Given the description of an element on the screen output the (x, y) to click on. 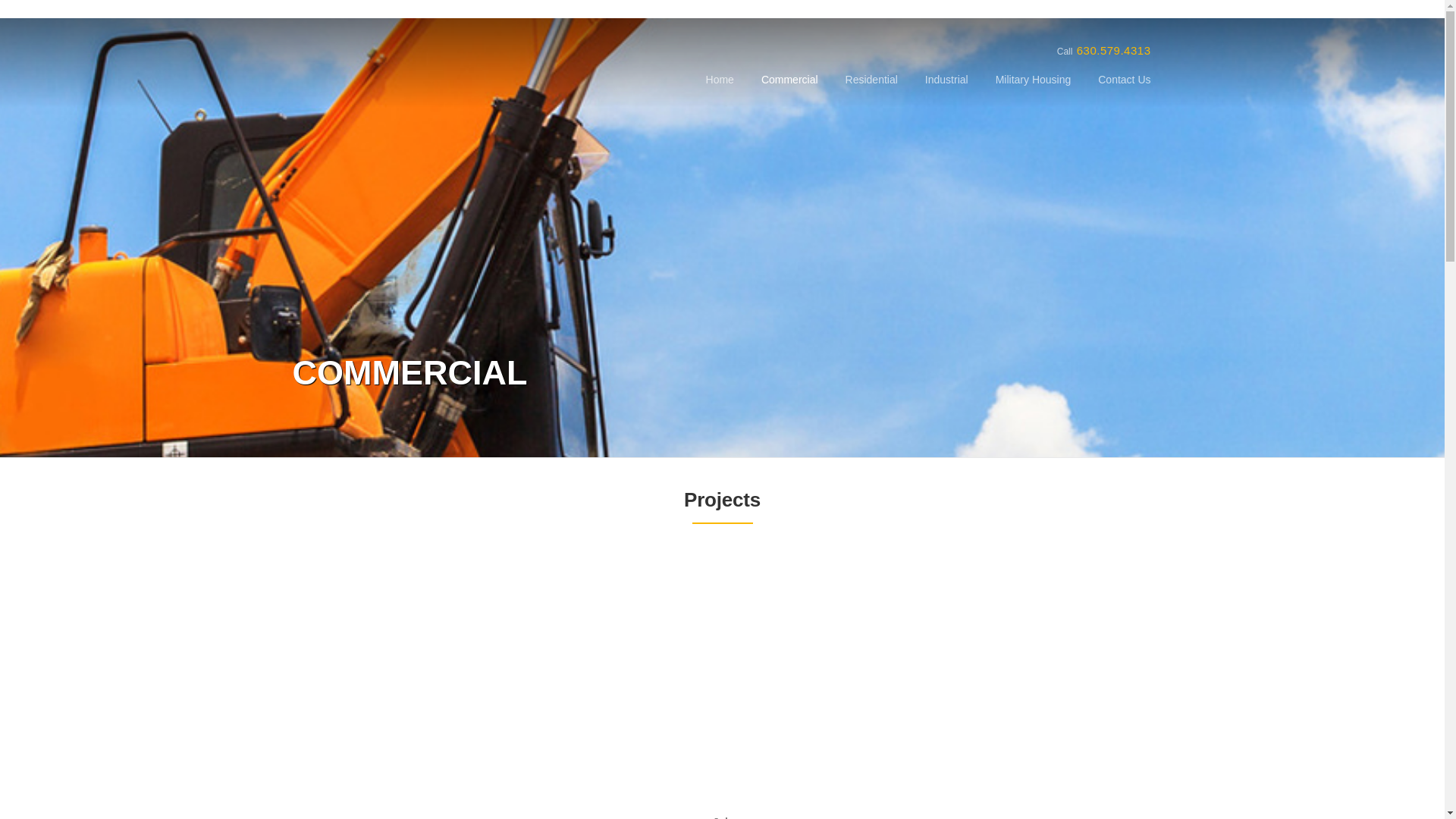
Commercial (789, 91)
Home (720, 91)
Military Housing (1032, 91)
Commercial (837, 681)
Commercial (1053, 681)
Contact Us (1117, 91)
Skip to content (34, 27)
Commercial (622, 681)
Commercial (406, 681)
Residential (871, 91)
Industrial (946, 91)
